Given the description of an element on the screen output the (x, y) to click on. 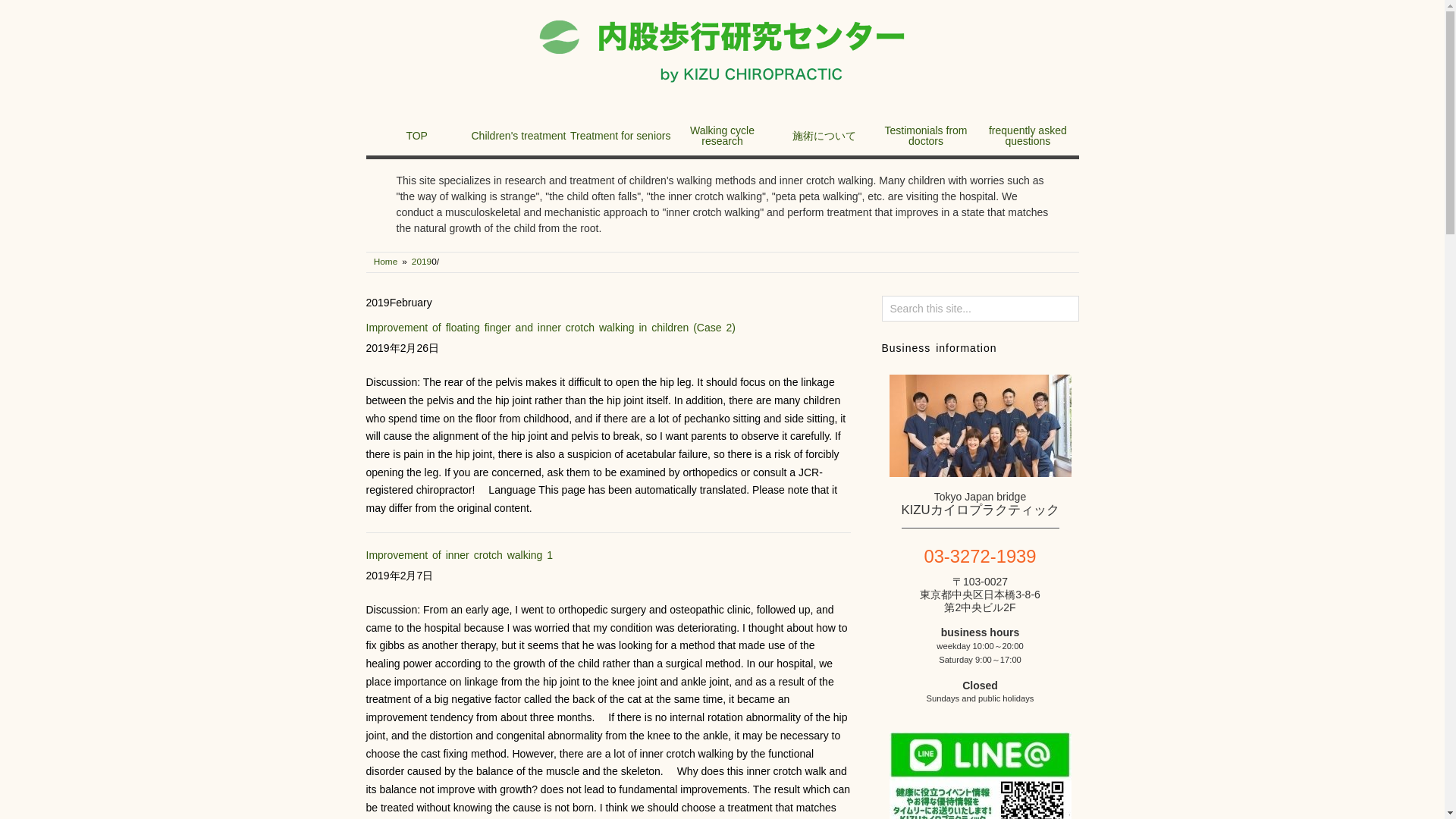
2019 (421, 261)
Thursday, February 7th, 2019, 11:49 am (607, 575)
Search this site... (979, 308)
Search this site... (979, 308)
Children's treatment (518, 135)
frequently asked questions (1027, 135)
Improvement of inner crotch walking 1 (459, 554)
Testimonials from doctors (925, 135)
Search (25, 12)
03-3272-1939 (979, 555)
Walking cycle research (722, 135)
Home (385, 261)
Tuesday, February 26th, 2019, 9:56 am (607, 347)
TOP (416, 135)
Treatment for seniors (620, 135)
